Given the description of an element on the screen output the (x, y) to click on. 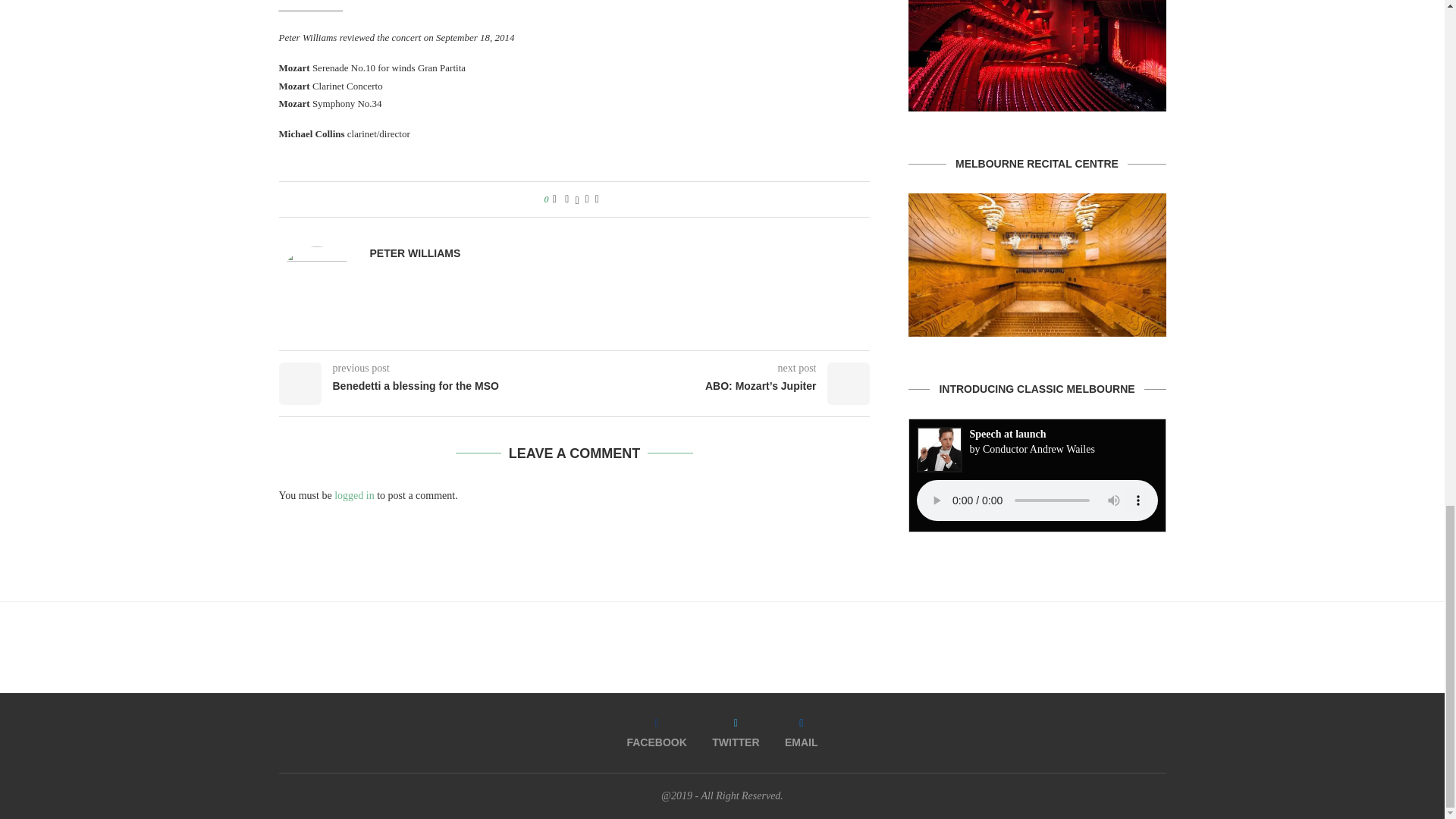
Author Peter Williams (415, 253)
PETER WILLIAMS (415, 253)
logged in (354, 495)
Benedetti a blessing for the MSO (427, 386)
